Given the description of an element on the screen output the (x, y) to click on. 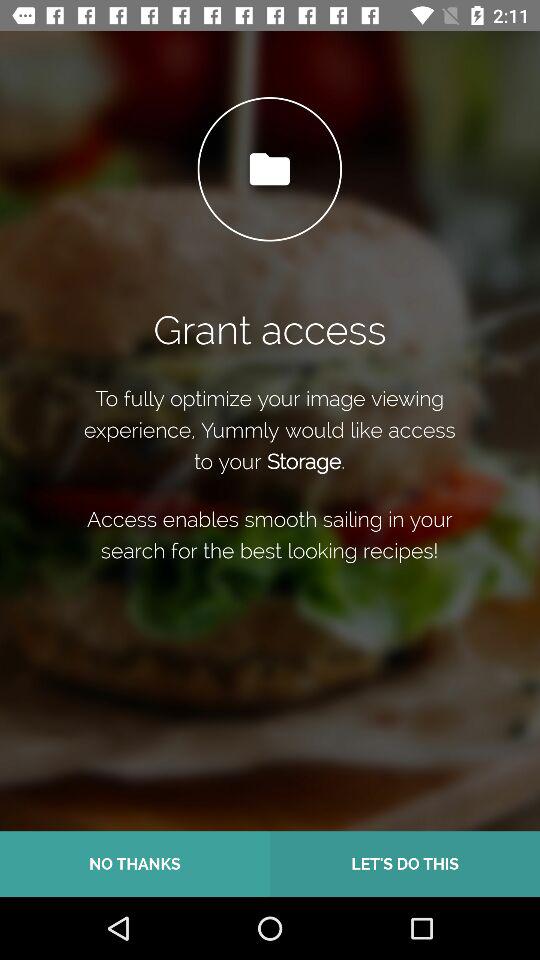
turn off icon next to no thanks item (405, 863)
